Given the description of an element on the screen output the (x, y) to click on. 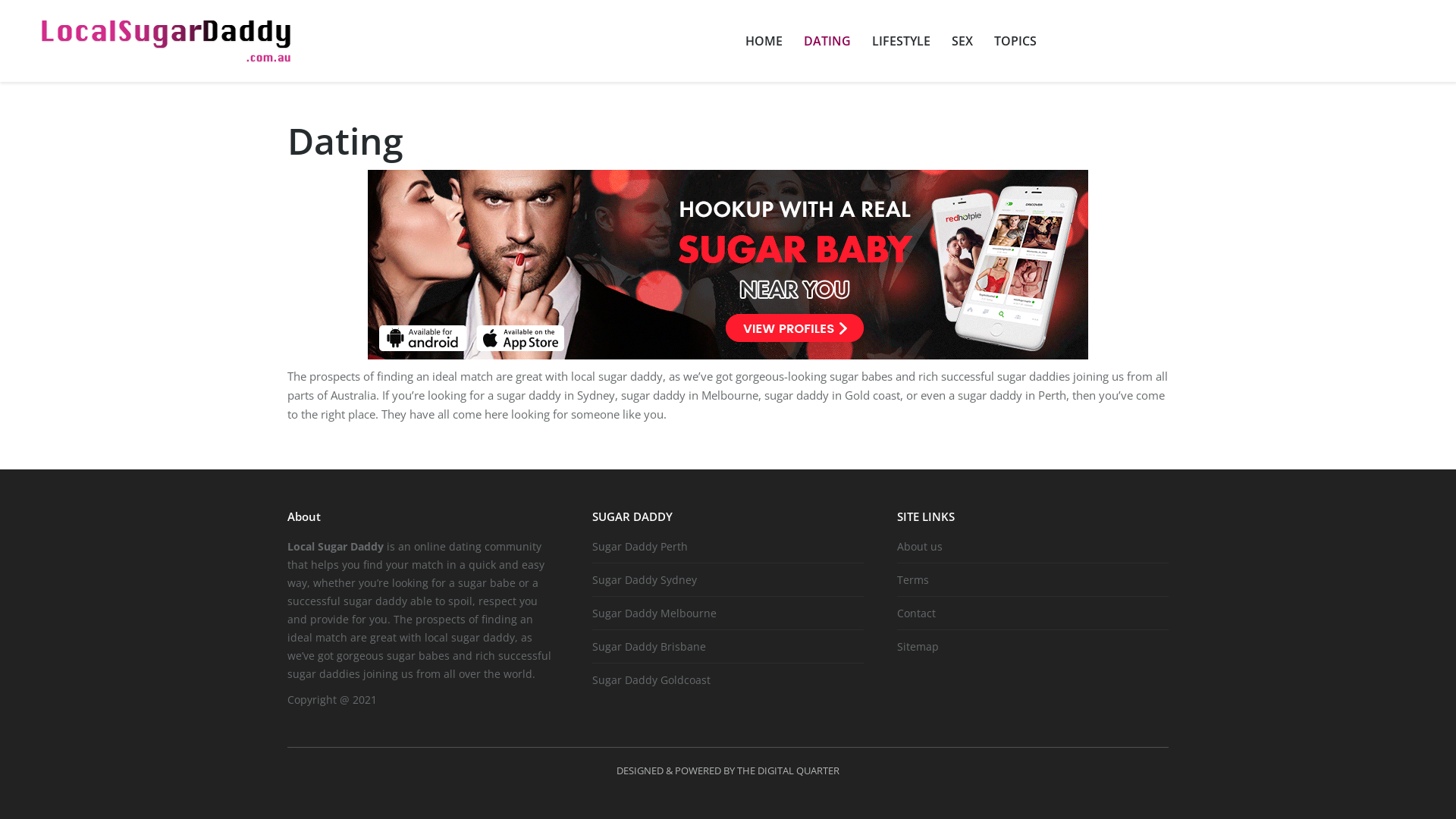
DATING Element type: text (826, 40)
TOPICS Element type: text (1014, 40)
Terms Element type: text (918, 579)
HOME Element type: text (762, 40)
Sugar Daddy Brisbane Element type: text (654, 646)
SEX Element type: text (961, 40)
Sugar Daddy Goldcoast Element type: text (656, 679)
Contact Element type: text (922, 612)
Sitemap Element type: text (923, 646)
Sugar Daddy Melbourne Element type: text (660, 612)
Sugar Daddy Sydney Element type: text (650, 579)
LIFESTYLE Element type: text (901, 40)
Sugar Daddy Perth Element type: text (645, 546)
About us Element type: text (925, 546)
